Given the description of an element on the screen output the (x, y) to click on. 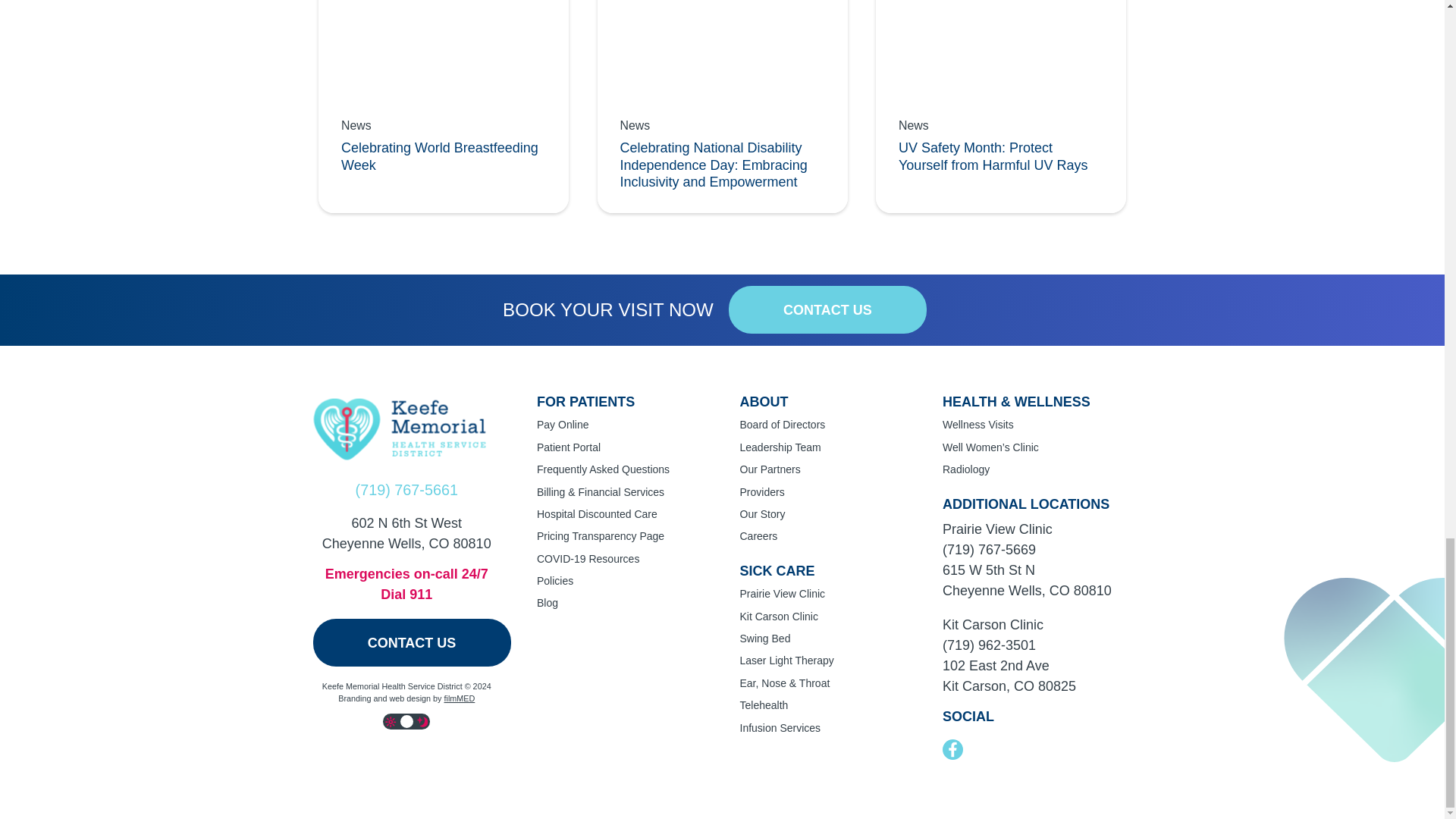
Permanently set to light mode (390, 721)
Permanently set to dark mode (422, 721)
Switch between light and dark mode based on system presence (406, 721)
Celebrating World Breastfeeding Week (443, 106)
UV Safety Month: Protect Yourself from Harmful UV Rays (1000, 106)
